Given the description of an element on the screen output the (x, y) to click on. 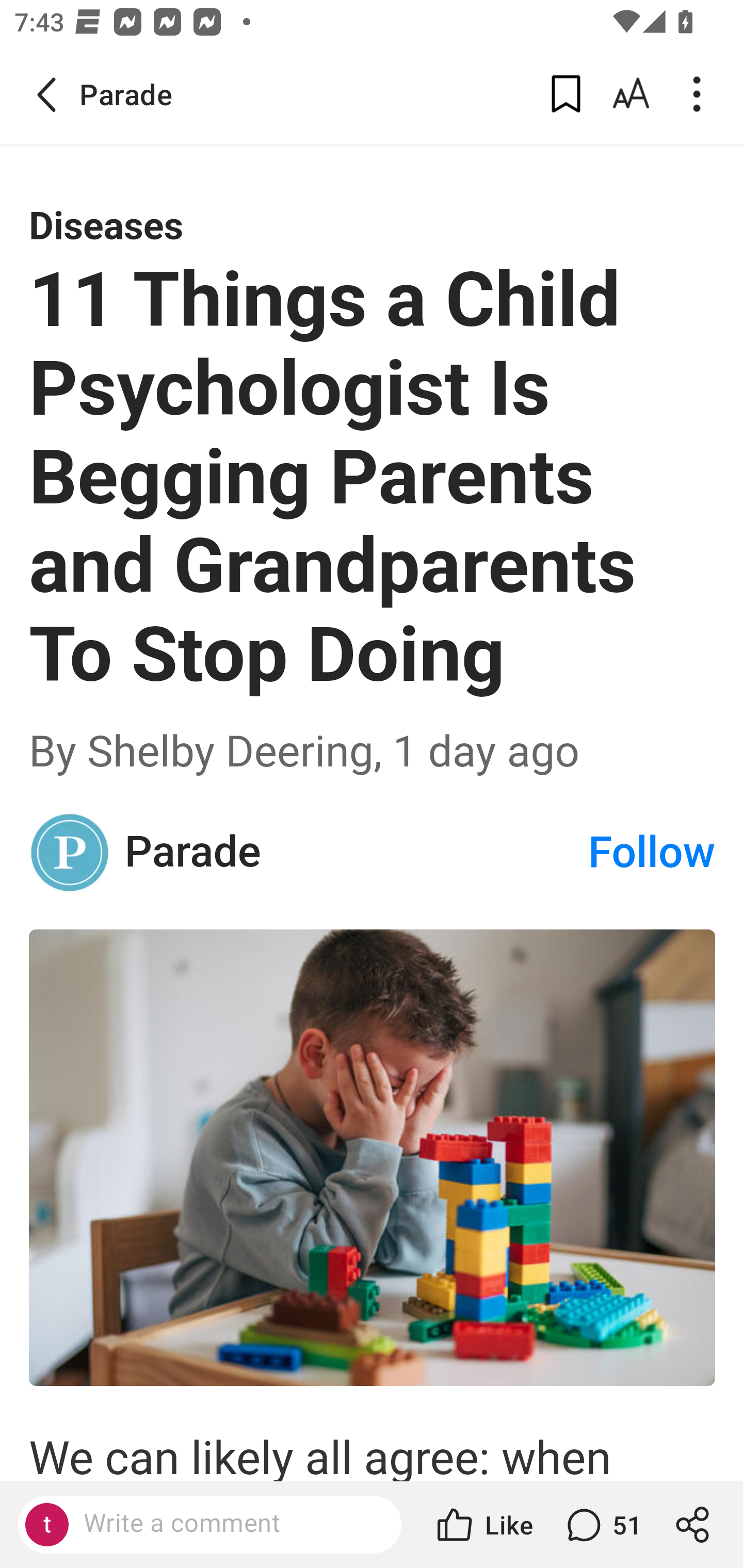
Like (483, 1524)
51 (601, 1524)
Write a comment (226, 1523)
